Given the description of an element on the screen output the (x, y) to click on. 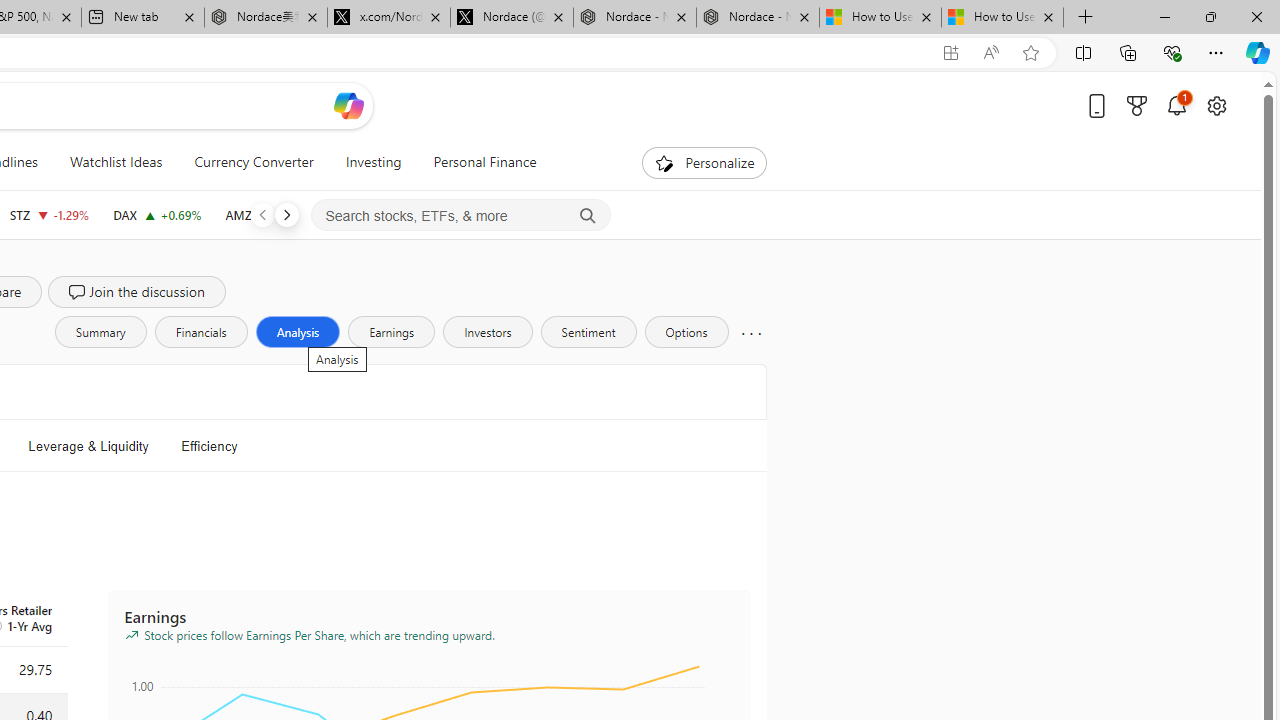
Open settings (1216, 105)
Analysis (297, 331)
AMZN AMAZON.COM, INC. decrease 173.12 -2.38 -1.36% (271, 214)
DAX DAX increase 18,810.38 +128.57 +0.69% (157, 214)
Currency Converter (253, 162)
x.com/NordaceOfficial (388, 17)
Open Copilot (347, 105)
Currency Converter (253, 162)
Personal Finance (484, 162)
